Given the description of an element on the screen output the (x, y) to click on. 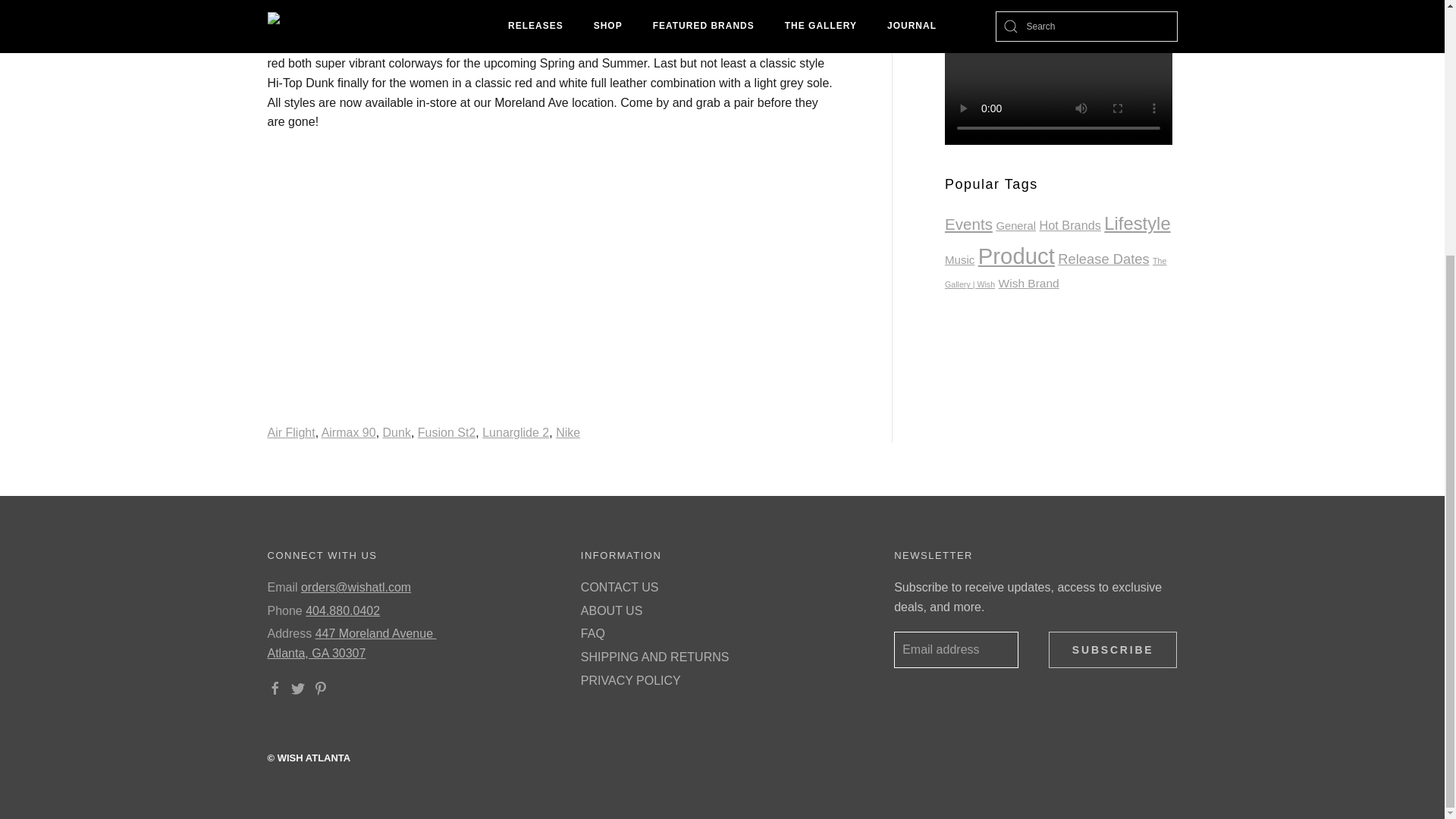
Hot Brands (1069, 224)
Music (959, 259)
Product (1016, 255)
Events (968, 223)
Lunarglide 2 (514, 431)
Wish Brand (1028, 282)
Nike (567, 431)
Airmax 90 (348, 431)
Dunk (396, 431)
General (1015, 225)
Fusion St2 (446, 431)
Lifestyle (1136, 222)
Release Dates (1103, 258)
Air Flight (290, 431)
